Given the description of an element on the screen output the (x, y) to click on. 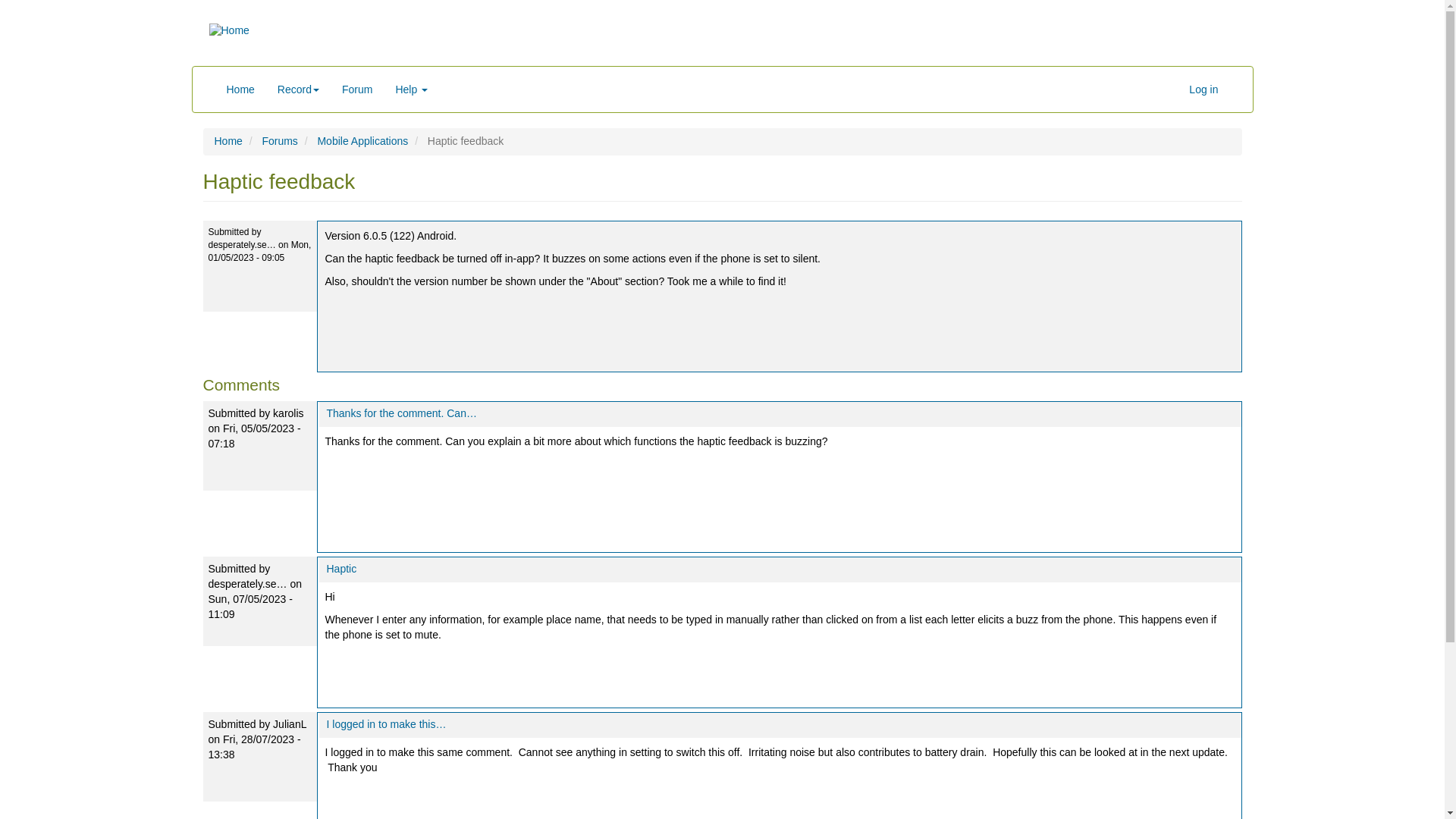
Help (411, 89)
Log in (1202, 89)
Forum (357, 89)
Home (227, 141)
Site discussion forum (357, 89)
Home (240, 89)
Forums (279, 141)
Monday, May 1, 2023 - 09:05 (259, 250)
Home (229, 31)
Record (298, 89)
Go to the iRecord home page (240, 89)
